Given the description of an element on the screen output the (x, y) to click on. 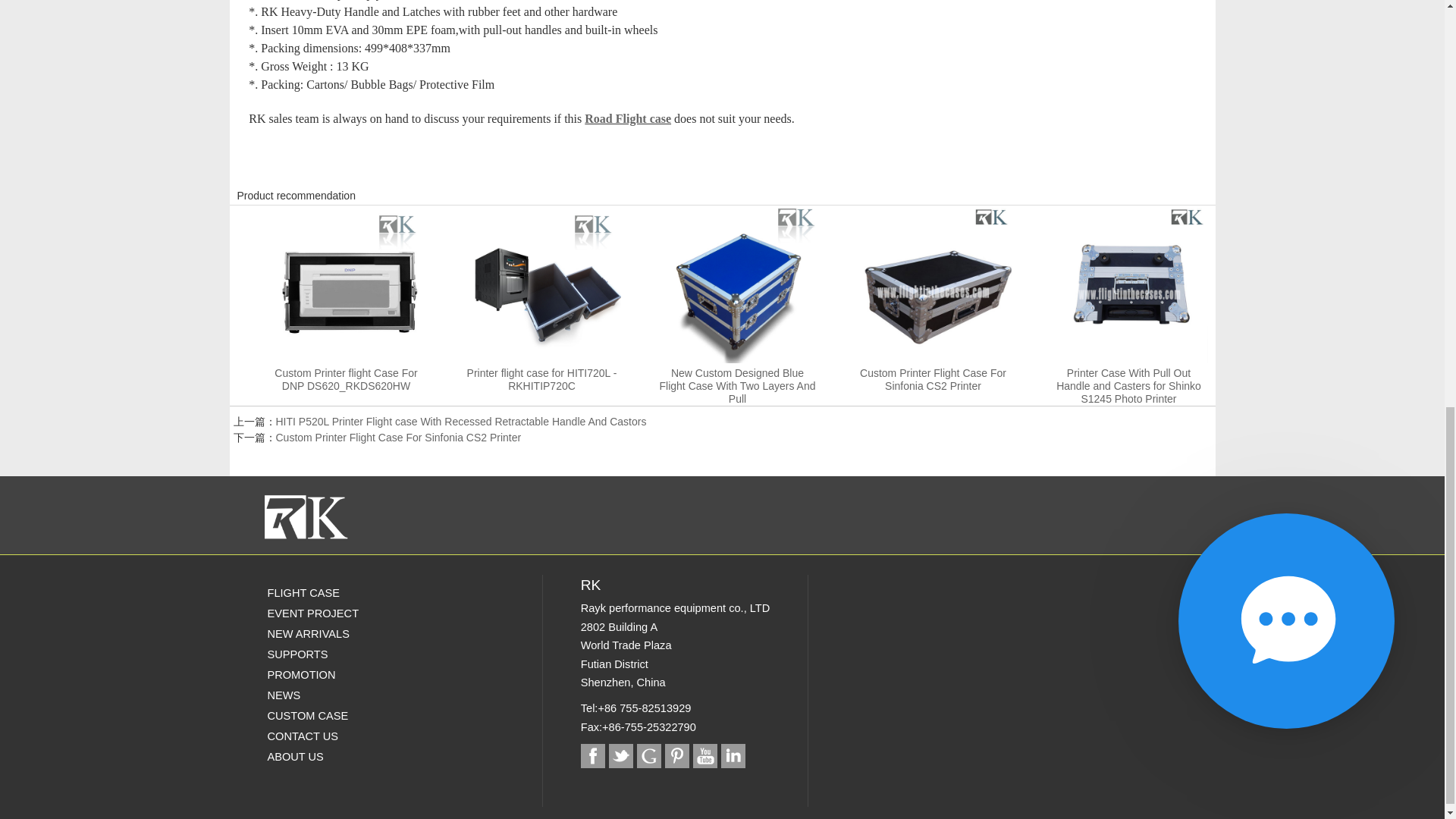
Flight Case (348, 592)
About us (348, 756)
Supports (348, 653)
Contact Us (348, 735)
Custom Case (348, 715)
Event Project (348, 612)
New  Arrivals (348, 633)
News (348, 694)
Promotion (348, 674)
